Given the description of an element on the screen output the (x, y) to click on. 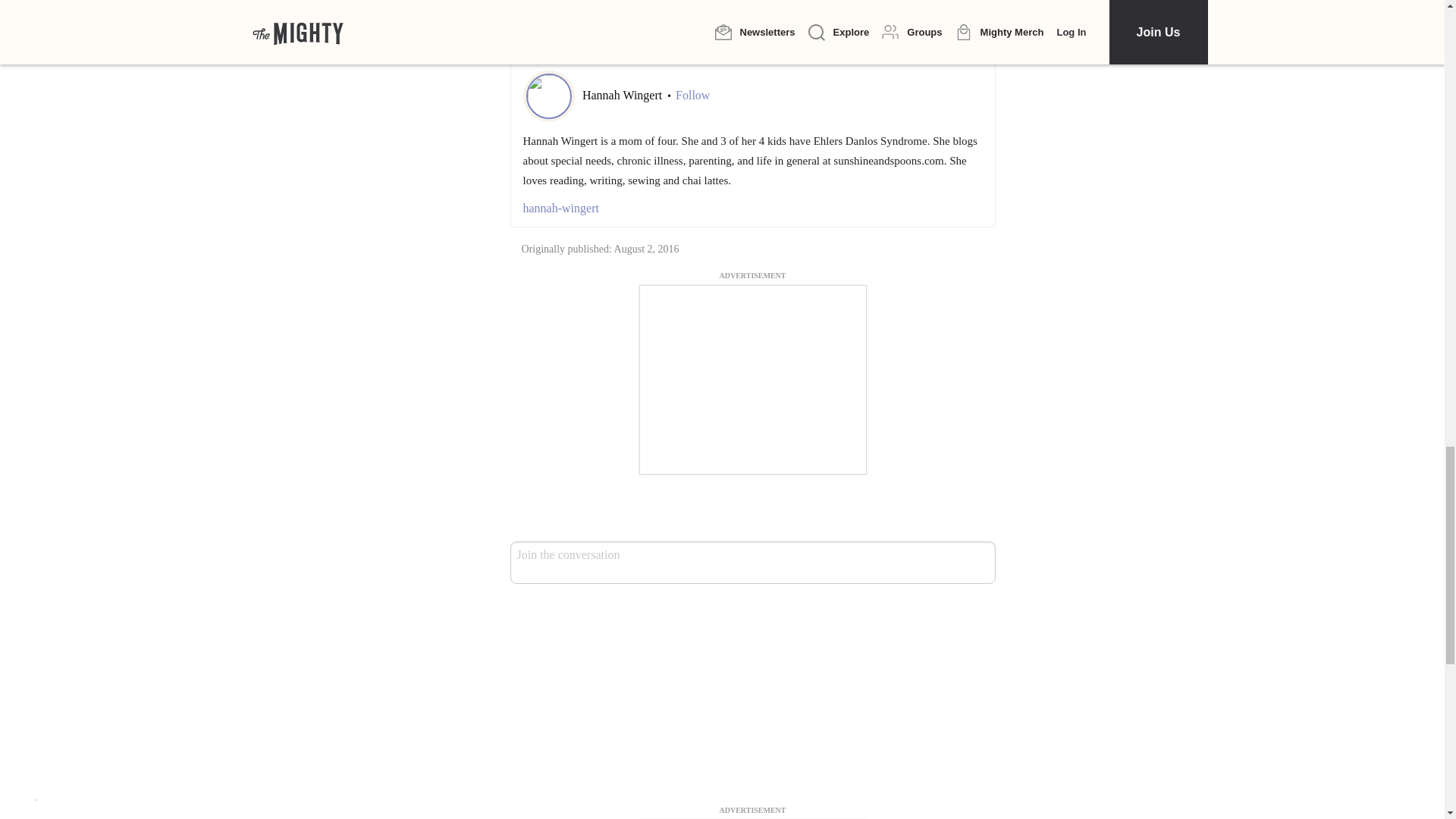
hannah-wingert (752, 208)
Follow (692, 95)
Hannah Wingert (623, 94)
